Given the description of an element on the screen output the (x, y) to click on. 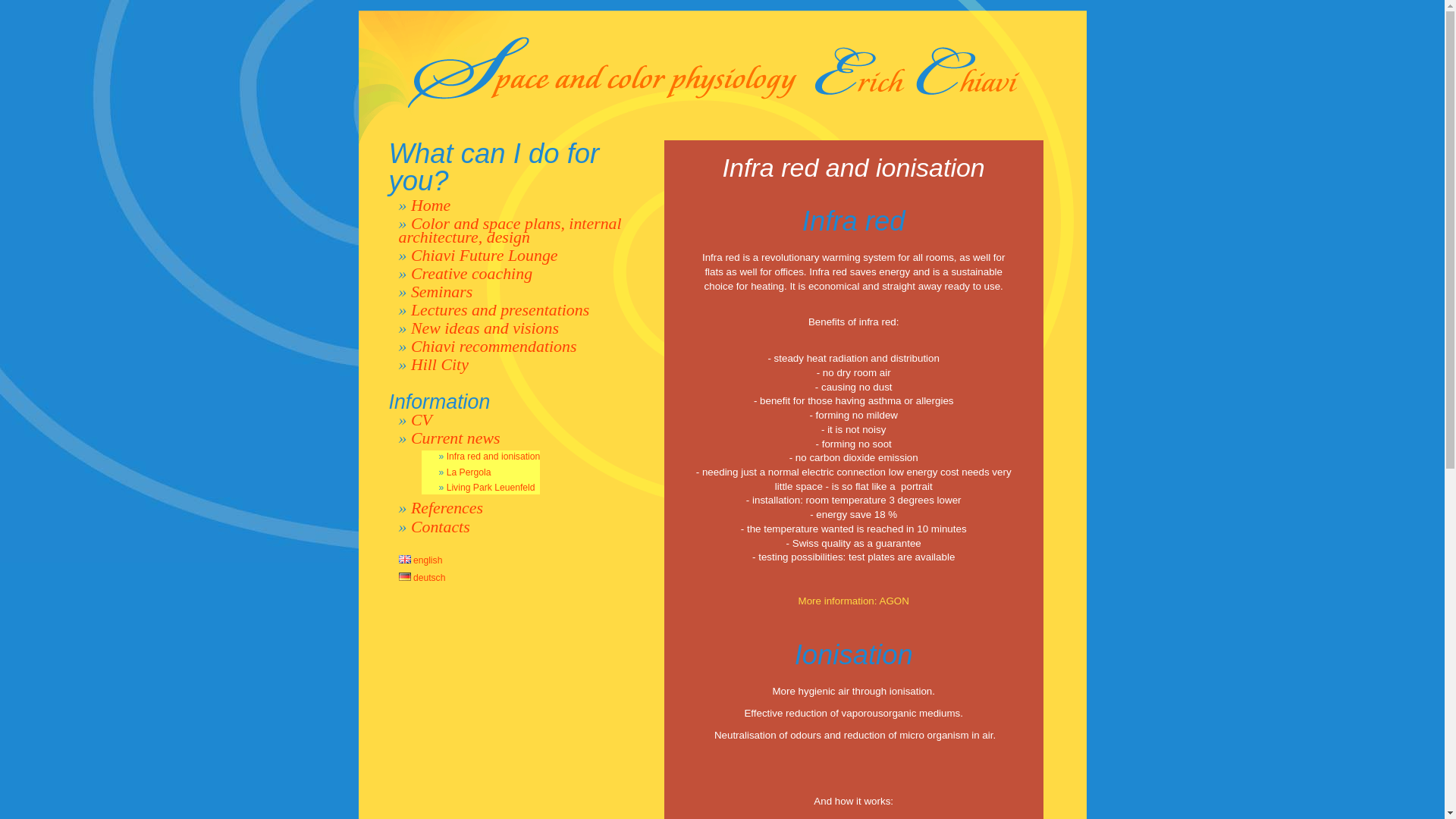
Living Park Leuenfeld Element type: text (490, 487)
CV Element type: text (421, 420)
Infra red and ionisation Element type: text (493, 456)
Creative coaching Element type: text (471, 273)
 english Element type: text (420, 560)
Current news Element type: text (455, 438)
Contacts Element type: text (440, 526)
La Pergola Element type: text (468, 472)
 deutsch Element type: text (421, 577)
Home Element type: text (430, 205)
Lectures and presentations Element type: text (500, 310)
Chiavi recommendations Element type: text (494, 346)
Hill City Element type: text (439, 364)
New ideas and visions Element type: text (484, 328)
Seminars Element type: text (441, 291)
More information: AGON Element type: text (853, 600)
Chiavi Future Lounge Element type: text (484, 255)
References Element type: text (447, 507)
Color and space plans, internal architecture, design Element type: text (509, 230)
